Given the description of an element on the screen output the (x, y) to click on. 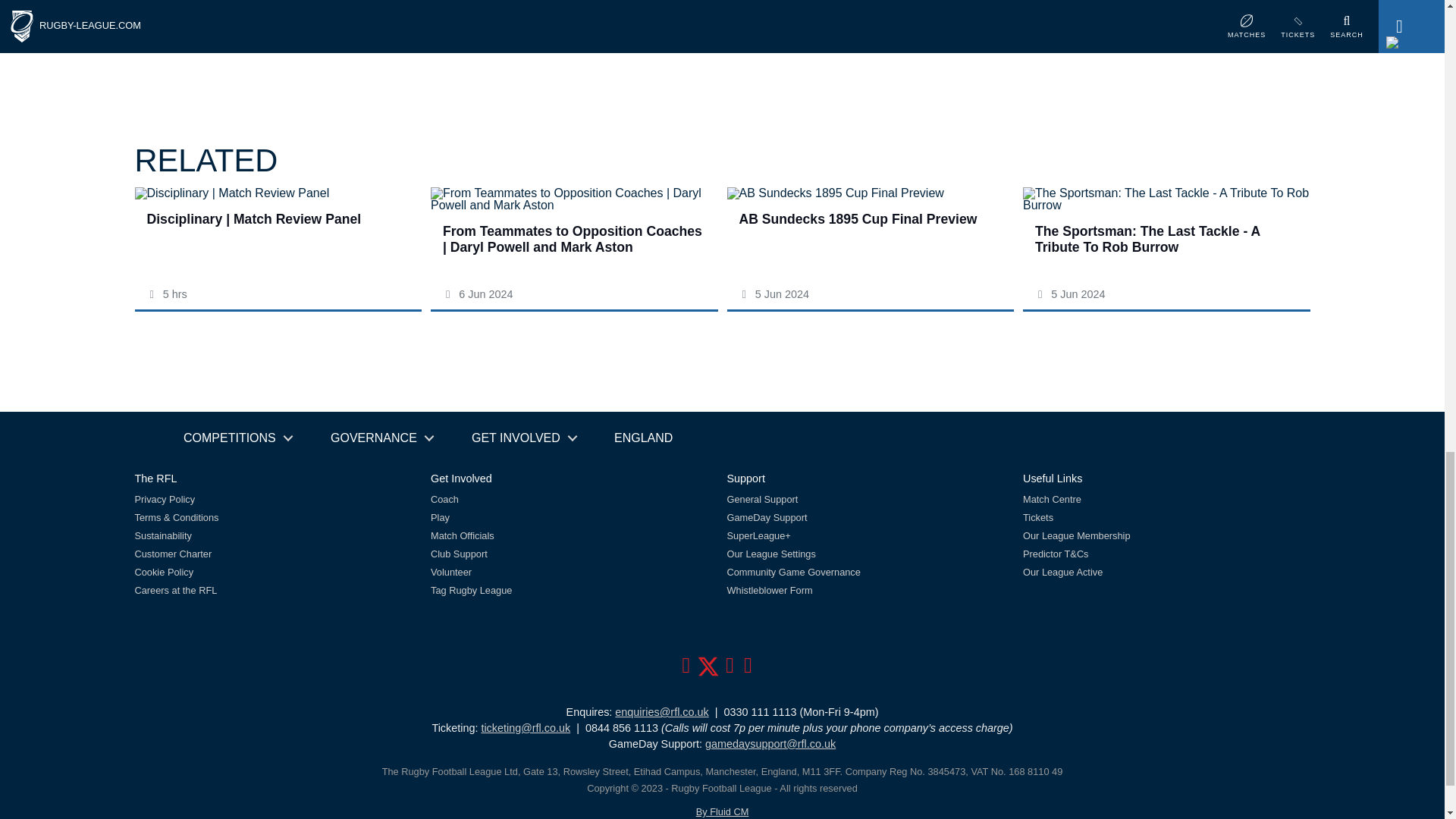
follow me on Facebook (686, 668)
web site design and development (722, 811)
follow me on X (708, 668)
follow us on tiktok (761, 668)
COMPETITIONS (237, 438)
follow me on Youtube (730, 668)
follow us on linkedin (869, 238)
